Given the description of an element on the screen output the (x, y) to click on. 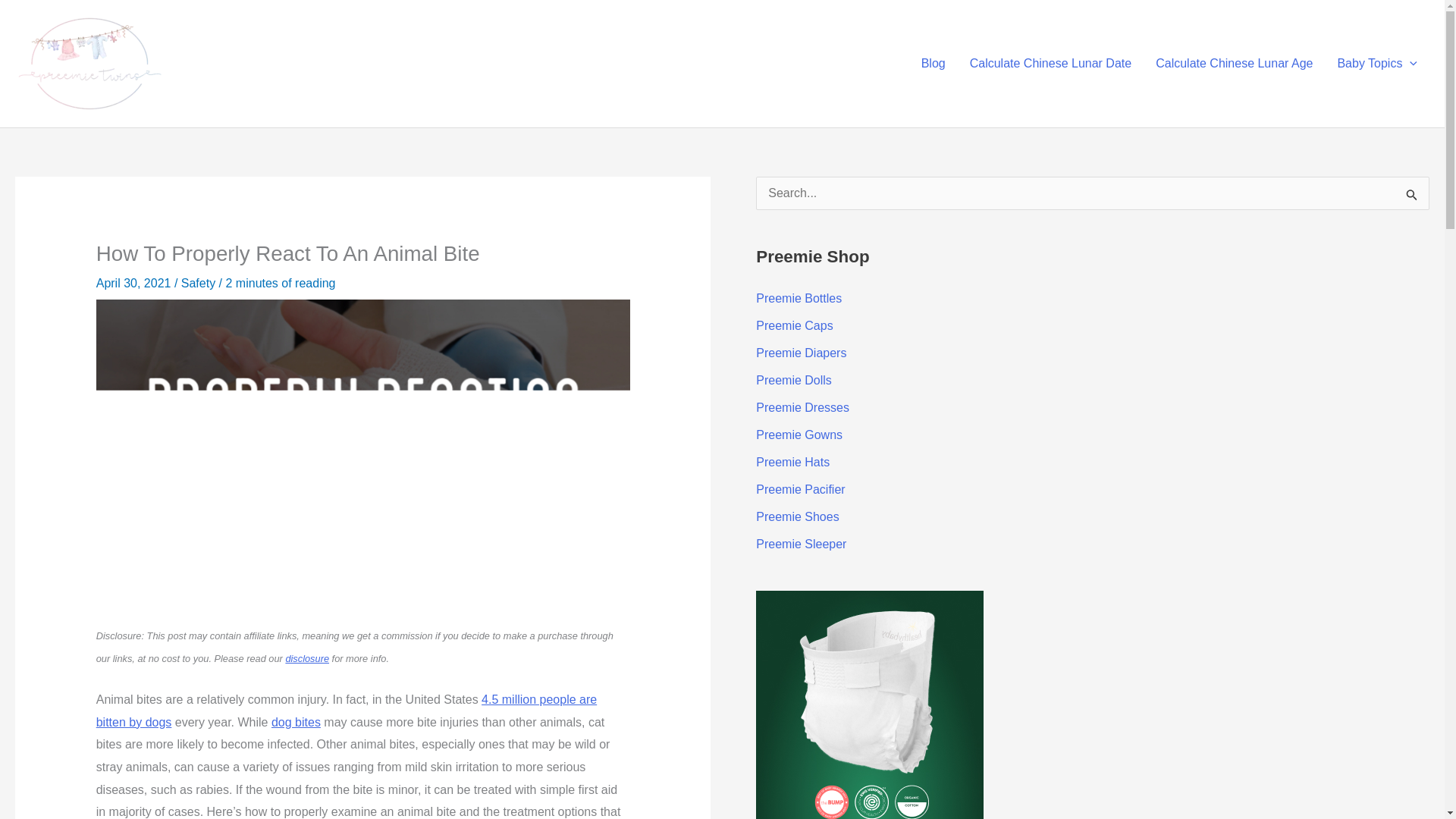
Calculate Chinese Lunar Date (1050, 63)
Safety (197, 282)
disclosure (307, 657)
dog bites (295, 721)
Blog (933, 63)
Award Winning Diaper  (869, 814)
4.5 million people are bitten by dogs (346, 710)
Calculate Chinese Lunar Age (1233, 63)
Baby Topics (1376, 63)
